Given the description of an element on the screen output the (x, y) to click on. 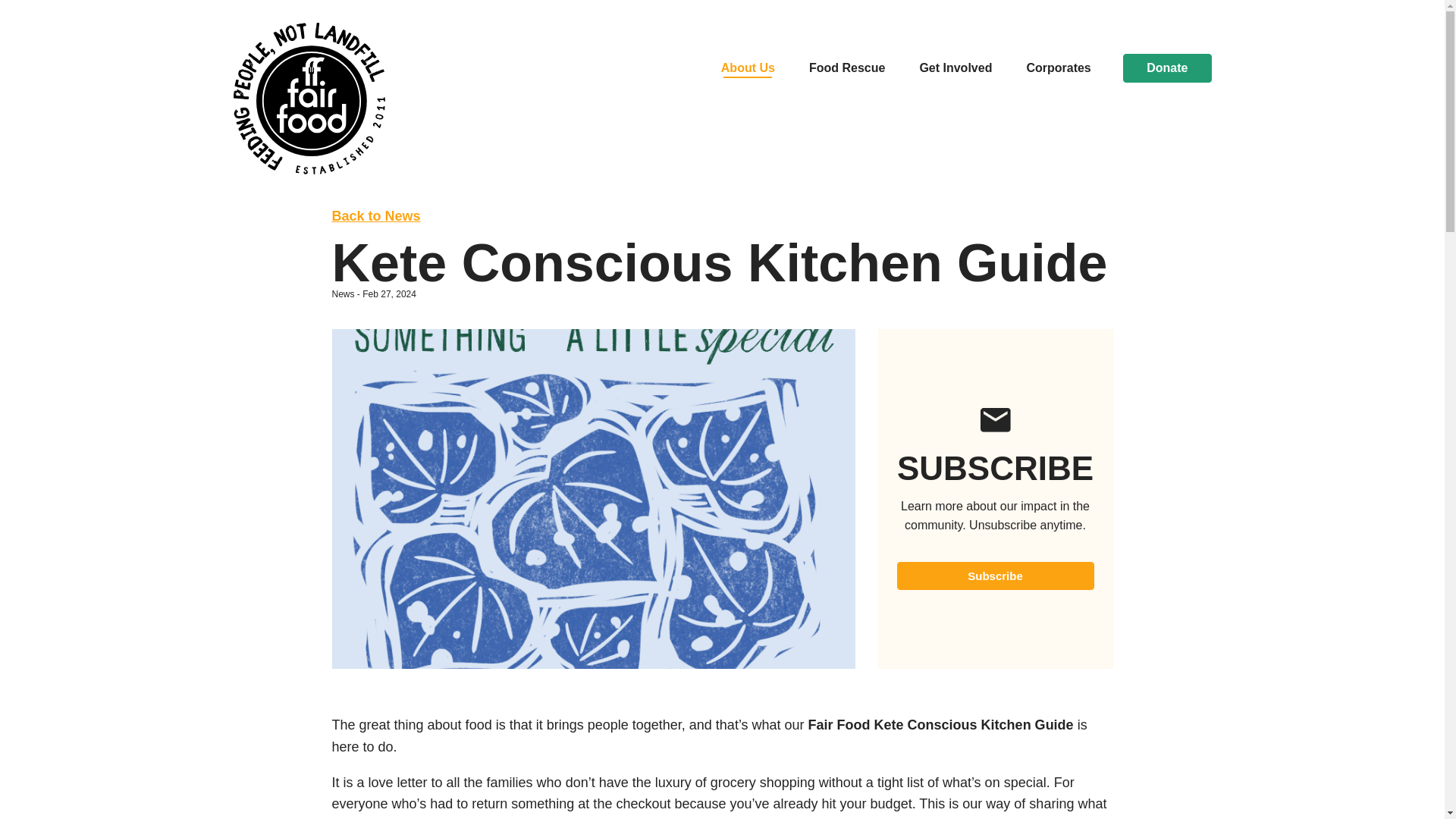
Food Rescue (847, 67)
Donate (1167, 67)
About Us (747, 67)
Back to News (375, 215)
Subscribe (994, 575)
Fair Food Kete Conscious Kitchen Guide (941, 724)
Corporates (1058, 67)
Get Involved (954, 67)
